Given the description of an element on the screen output the (x, y) to click on. 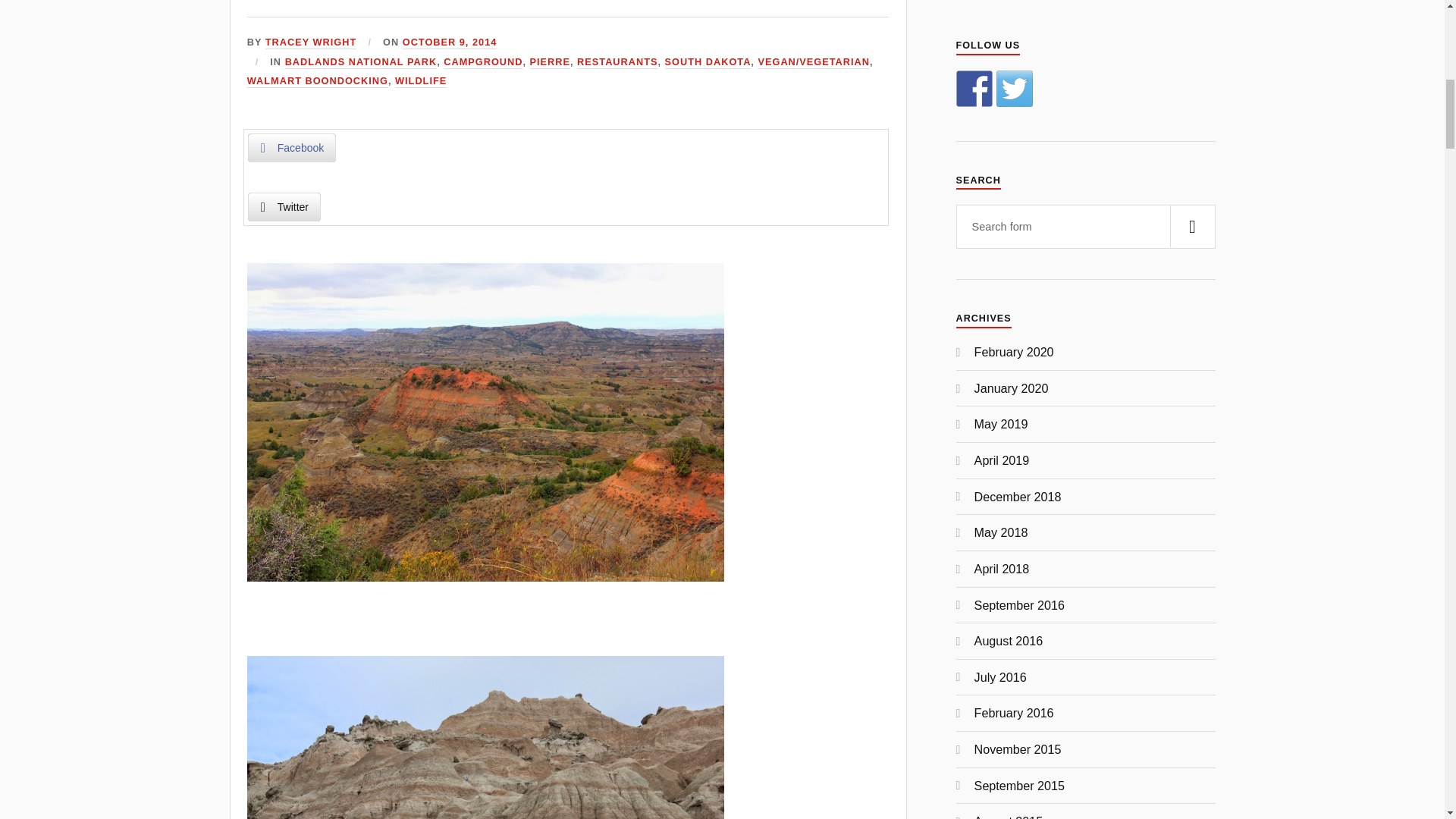
Posts by Tracey Wright (310, 42)
Follow us on Facebook (974, 88)
Follow us on Twitter (1013, 88)
